Given the description of an element on the screen output the (x, y) to click on. 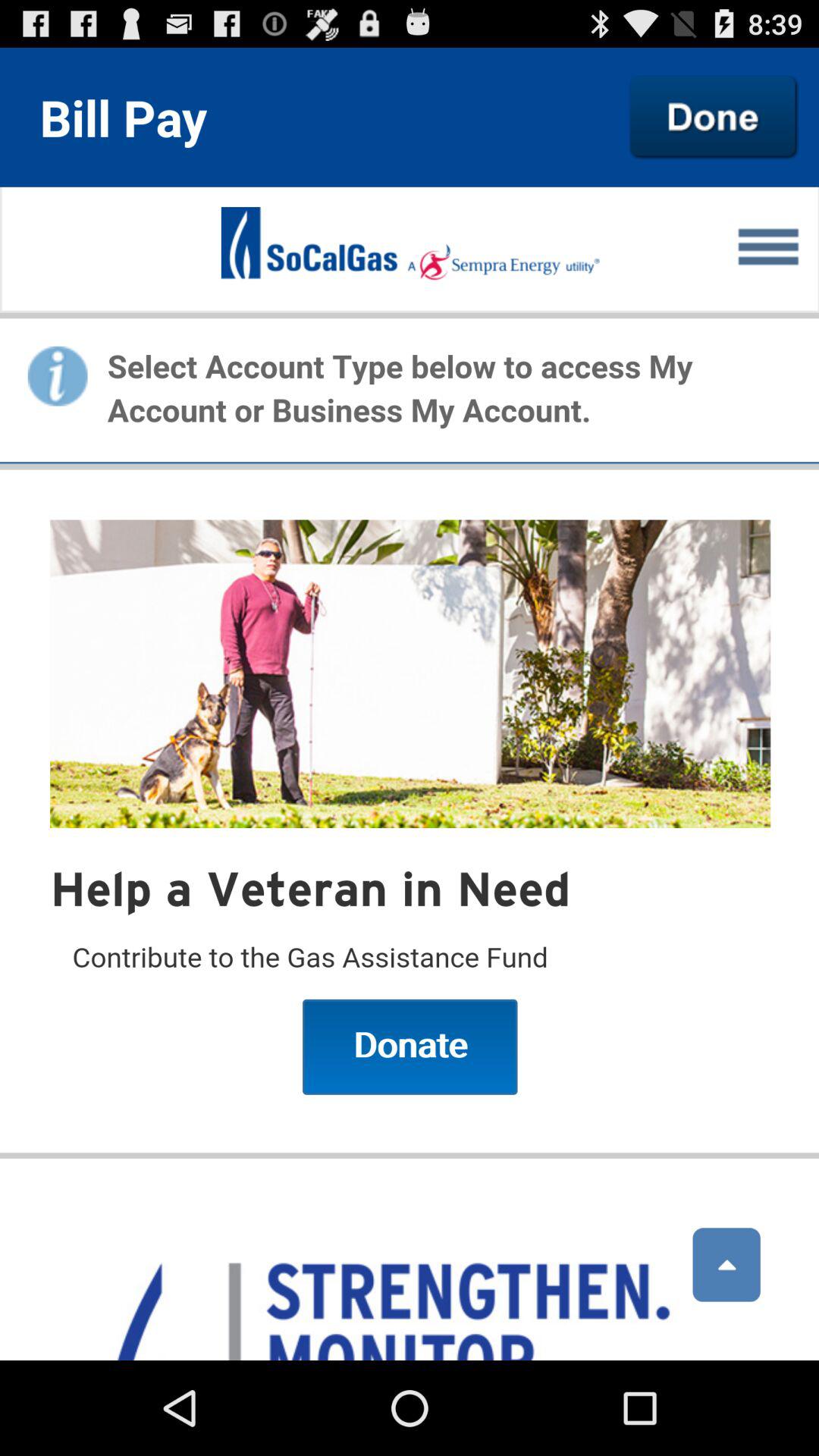
exit the billpay and return to home screen (714, 117)
